Given the description of an element on the screen output the (x, y) to click on. 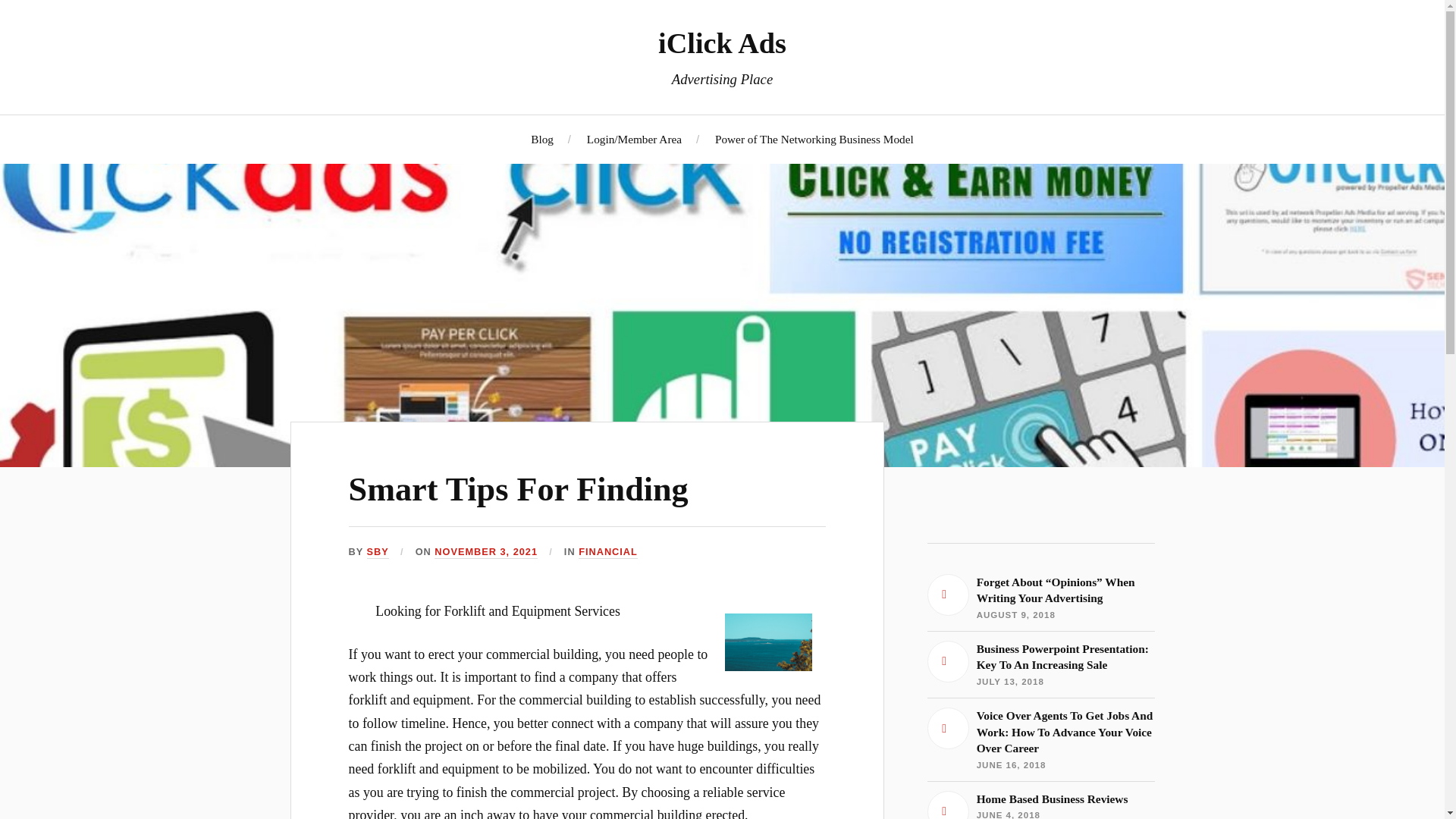
SBY (377, 552)
iClick Ads (722, 42)
NOVEMBER 3, 2021 (485, 552)
Power of The Networking Business Model (814, 138)
Home Based Business Reviews (1040, 805)
Posts by sby (1040, 805)
Smart Tips For Finding (377, 552)
Business Powerpoint Presentation: Key To An Increasing Sale (518, 488)
FINANCIAL (1040, 664)
